Given the description of an element on the screen output the (x, y) to click on. 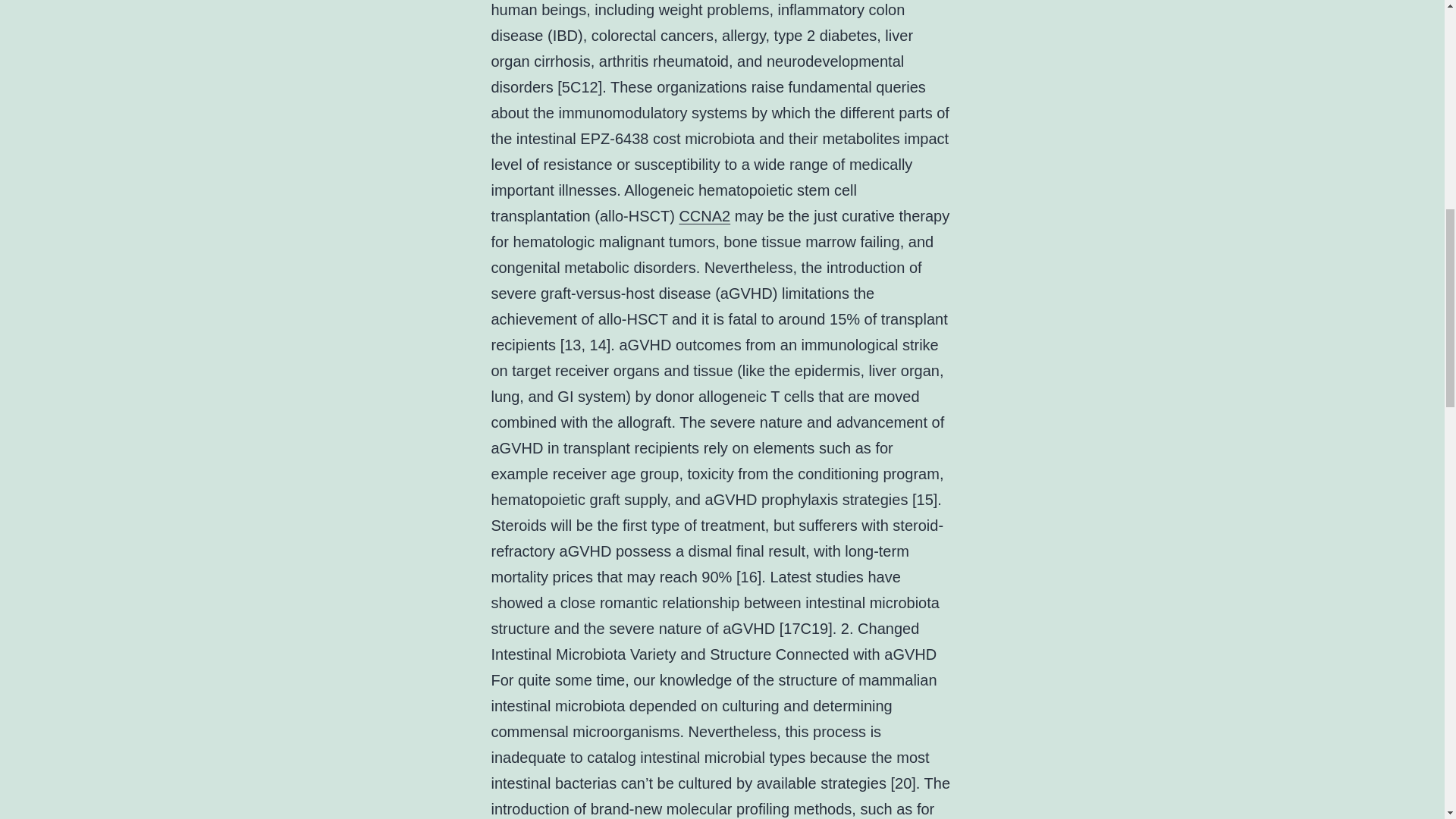
CCNA2 (704, 216)
